Given the description of an element on the screen output the (x, y) to click on. 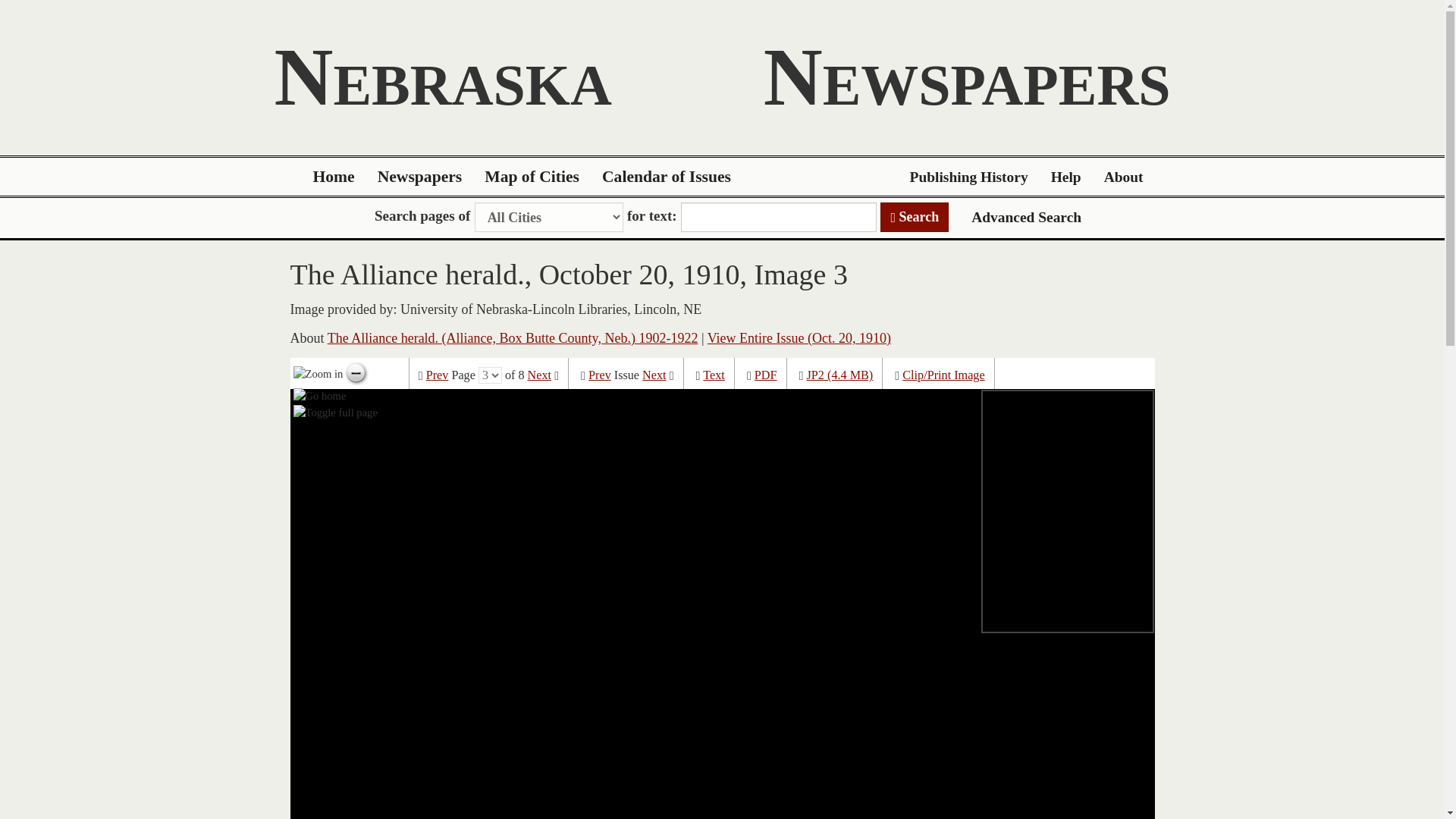
Prev (599, 375)
Publishing History (968, 176)
Toggle full page (335, 412)
Map of Cities (532, 176)
PDF (765, 375)
Go home (320, 394)
Prev (437, 375)
Advanced Search (1026, 216)
Zoom in (318, 373)
Text (714, 375)
